Given the description of an element on the screen output the (x, y) to click on. 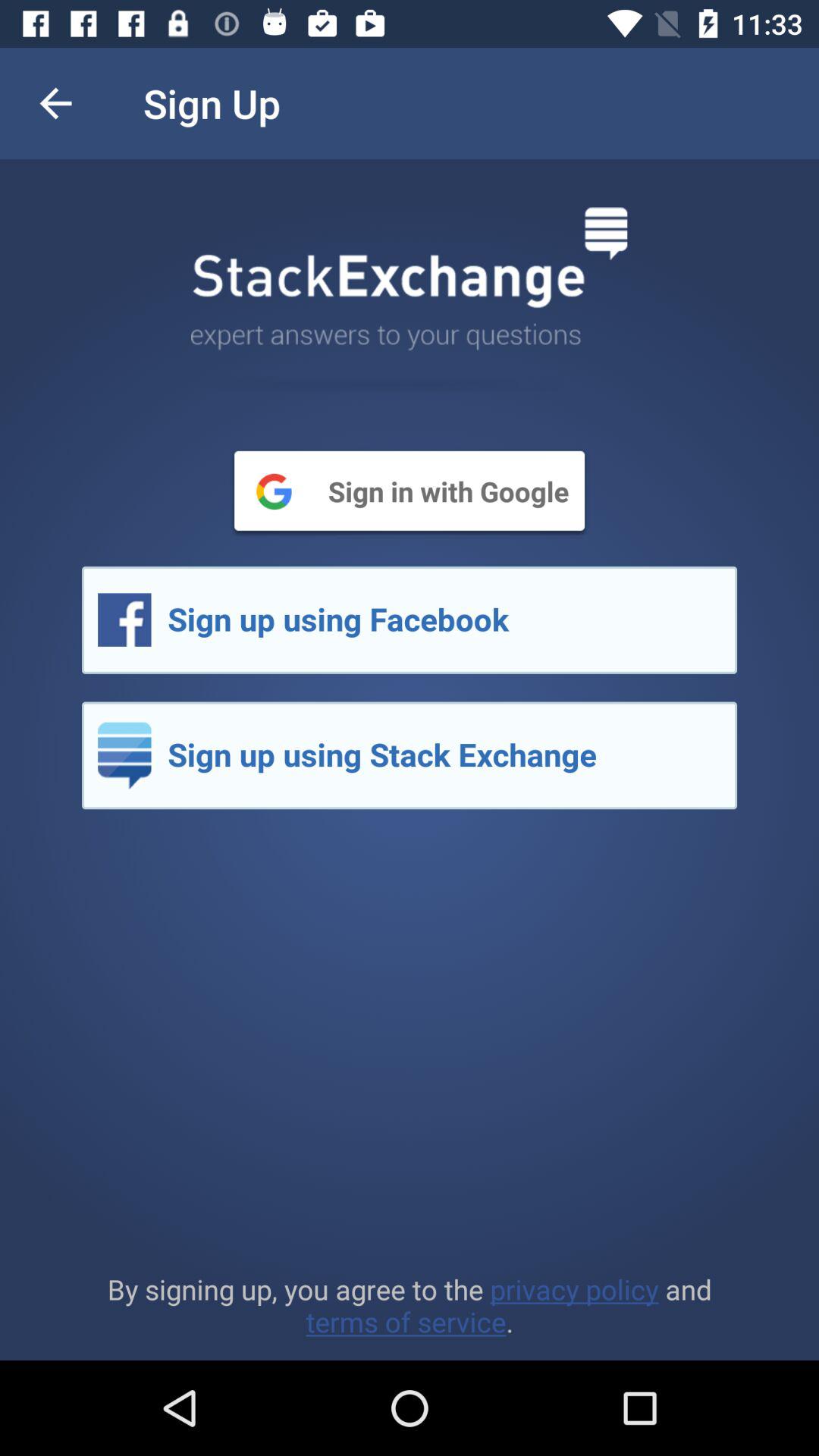
turn off the item to the left of the sign up (55, 103)
